Given the description of an element on the screen output the (x, y) to click on. 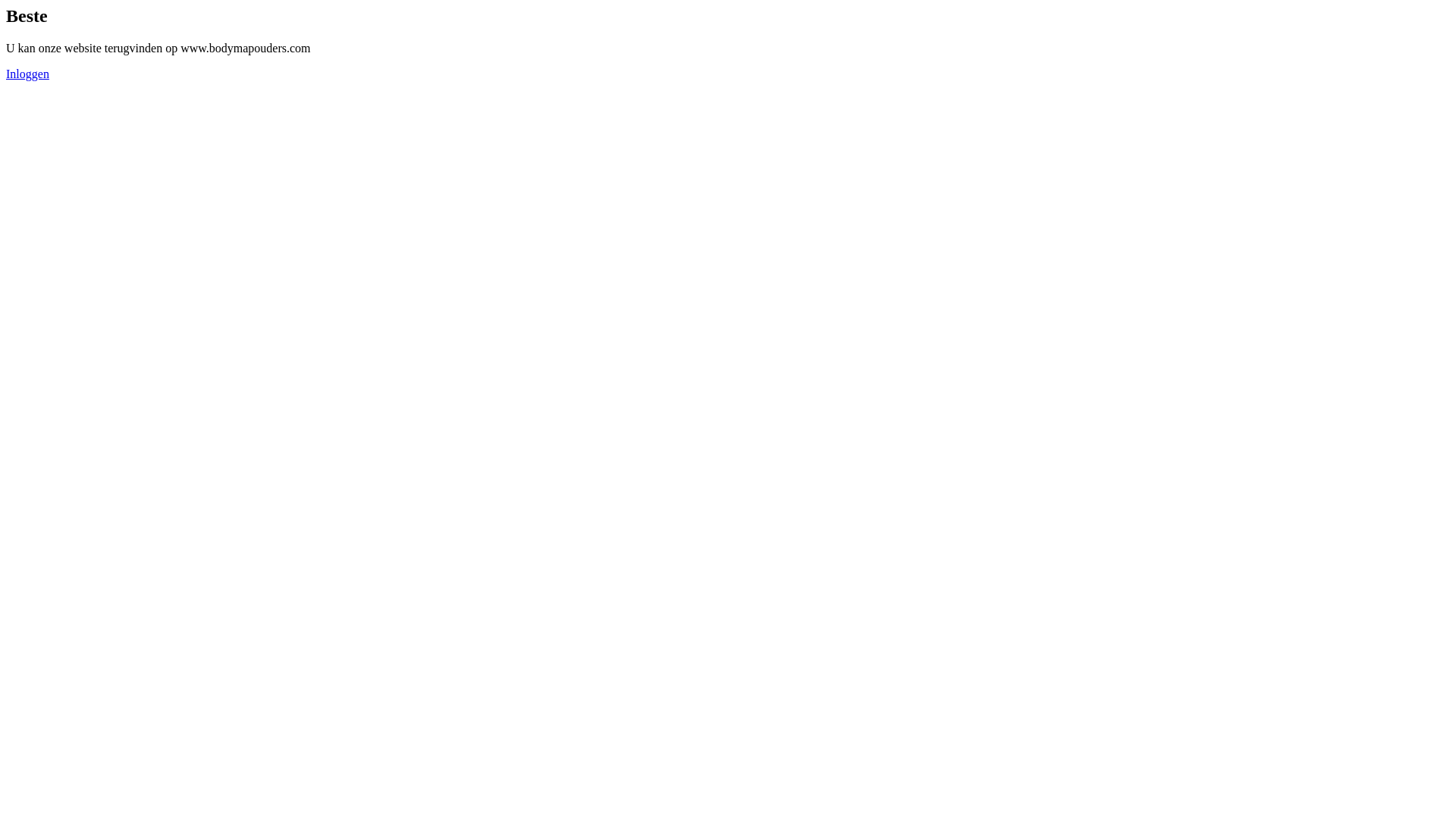
Inloggen Element type: text (27, 73)
